Given the description of an element on the screen output the (x, y) to click on. 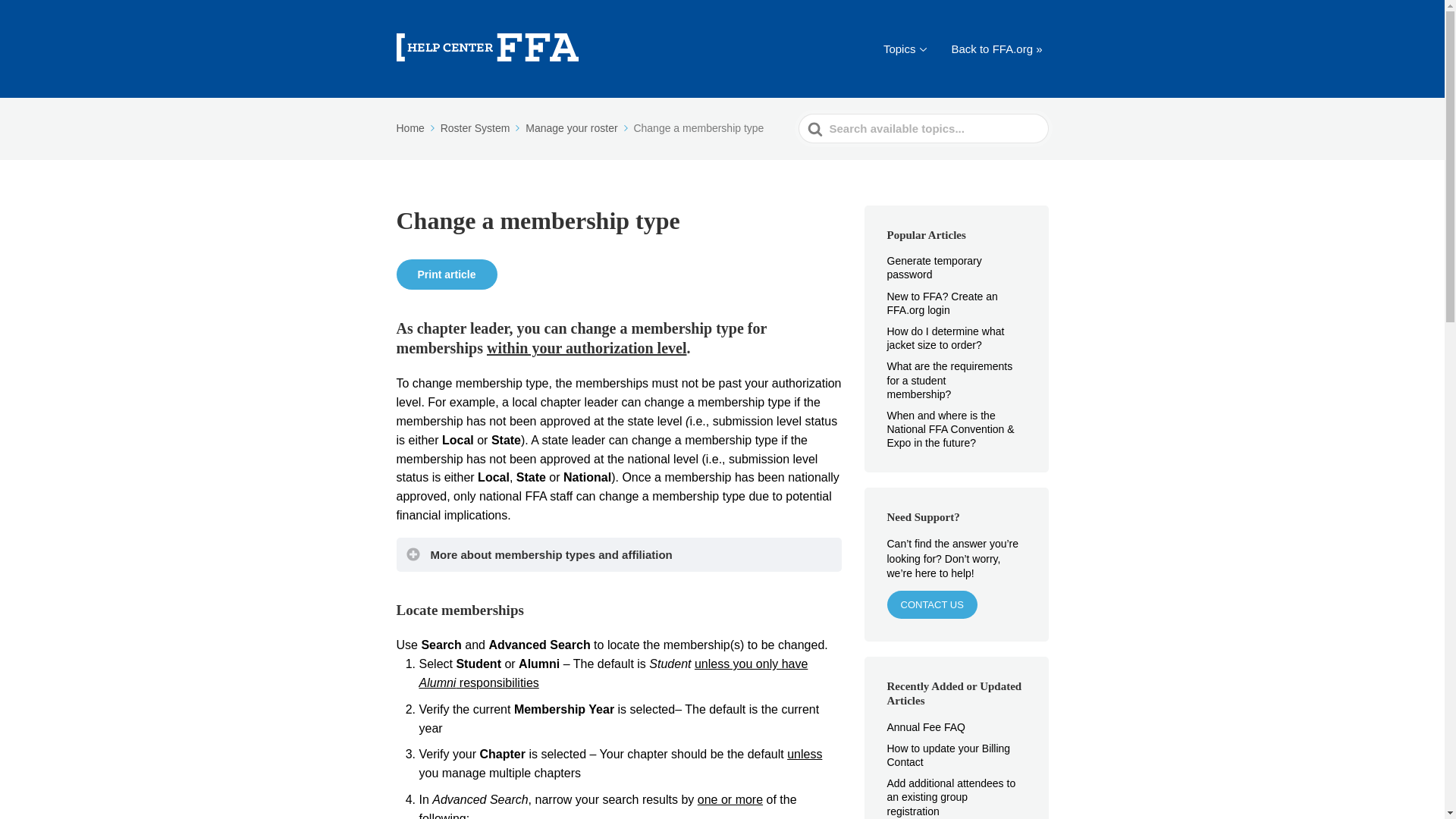
What are the requirements for a student membership? (949, 379)
Home (416, 128)
Topics (905, 48)
Annual Fee FAQ (935, 727)
Manage your roster (577, 128)
Print article (446, 274)
New to FFA? Create an FFA.org login (941, 303)
Add additional attendees to an existing group registration (951, 796)
How to update your Billing Contact (948, 755)
CONTACT US (931, 604)
Generate temporary password (933, 267)
Roster System (481, 128)
How do I determine what jacket size to order? (945, 338)
